Given the description of an element on the screen output the (x, y) to click on. 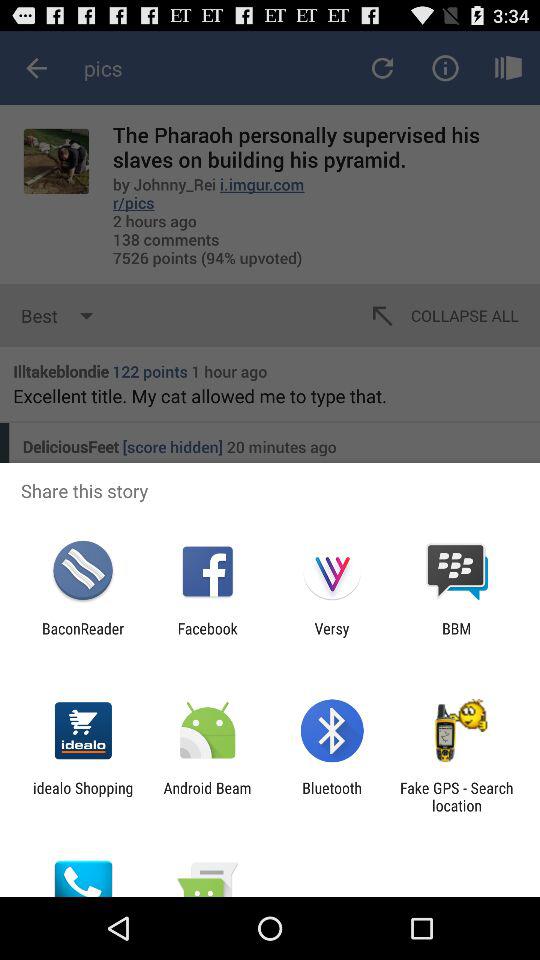
scroll until the bluetooth icon (331, 796)
